Given the description of an element on the screen output the (x, y) to click on. 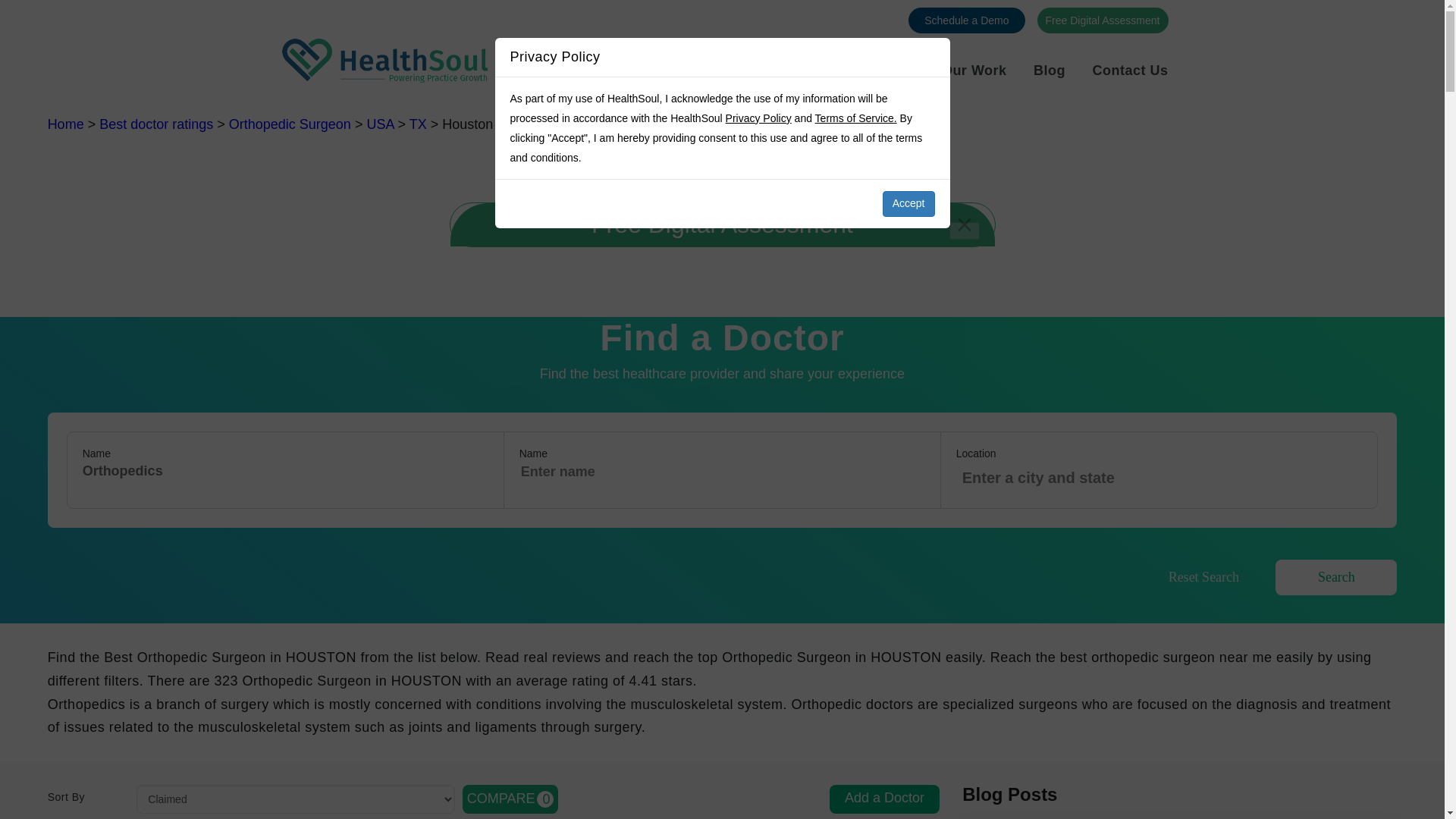
Free Digital Assessment (1102, 20)
Search (511, 799)
Add a Doctor (1335, 577)
Schedule a Demo (884, 799)
Orthopedic Surgeon (966, 20)
USA (289, 124)
Solutions (379, 124)
Contact Us (791, 89)
Reset Search (1129, 70)
Home (1202, 577)
Best doctor ratings (66, 124)
Our Work (155, 124)
About Us (974, 70)
Blog (882, 70)
